Given the description of an element on the screen output the (x, y) to click on. 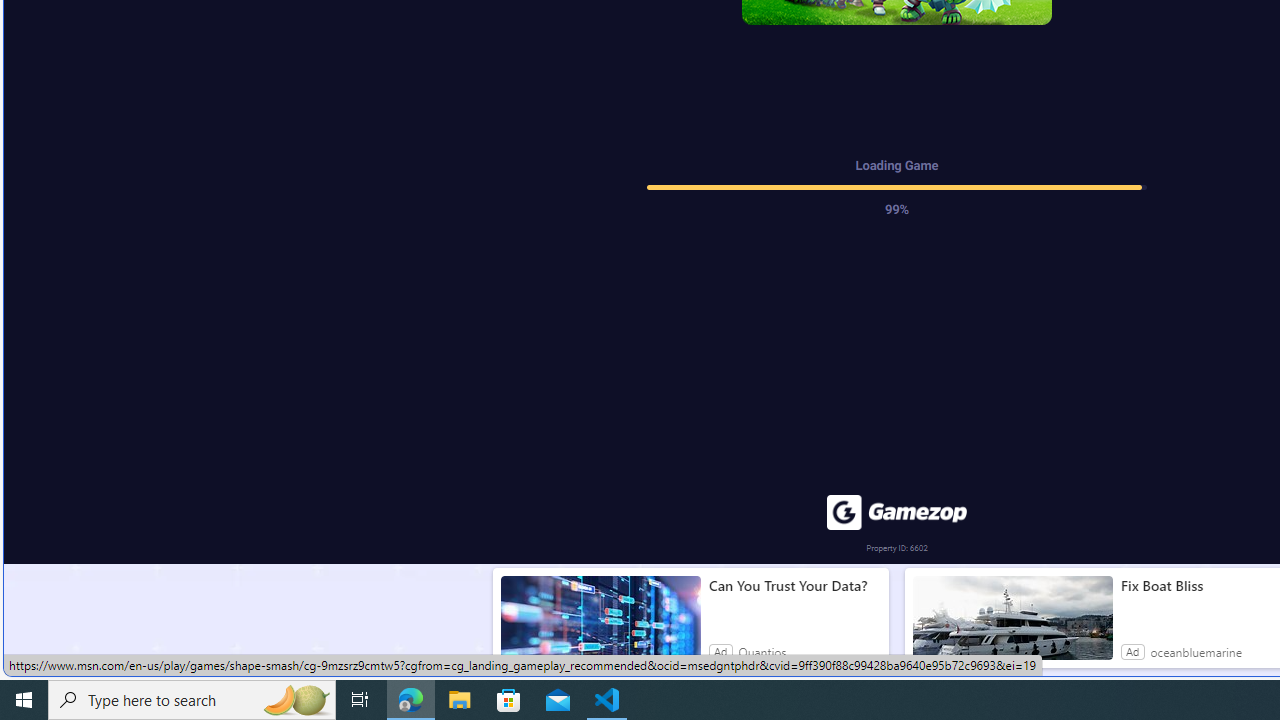
oceanbluemarine (1195, 651)
anim-content (1012, 626)
Can You Trust Your Data? (794, 586)
Quantios (762, 651)
